Given the description of an element on the screen output the (x, y) to click on. 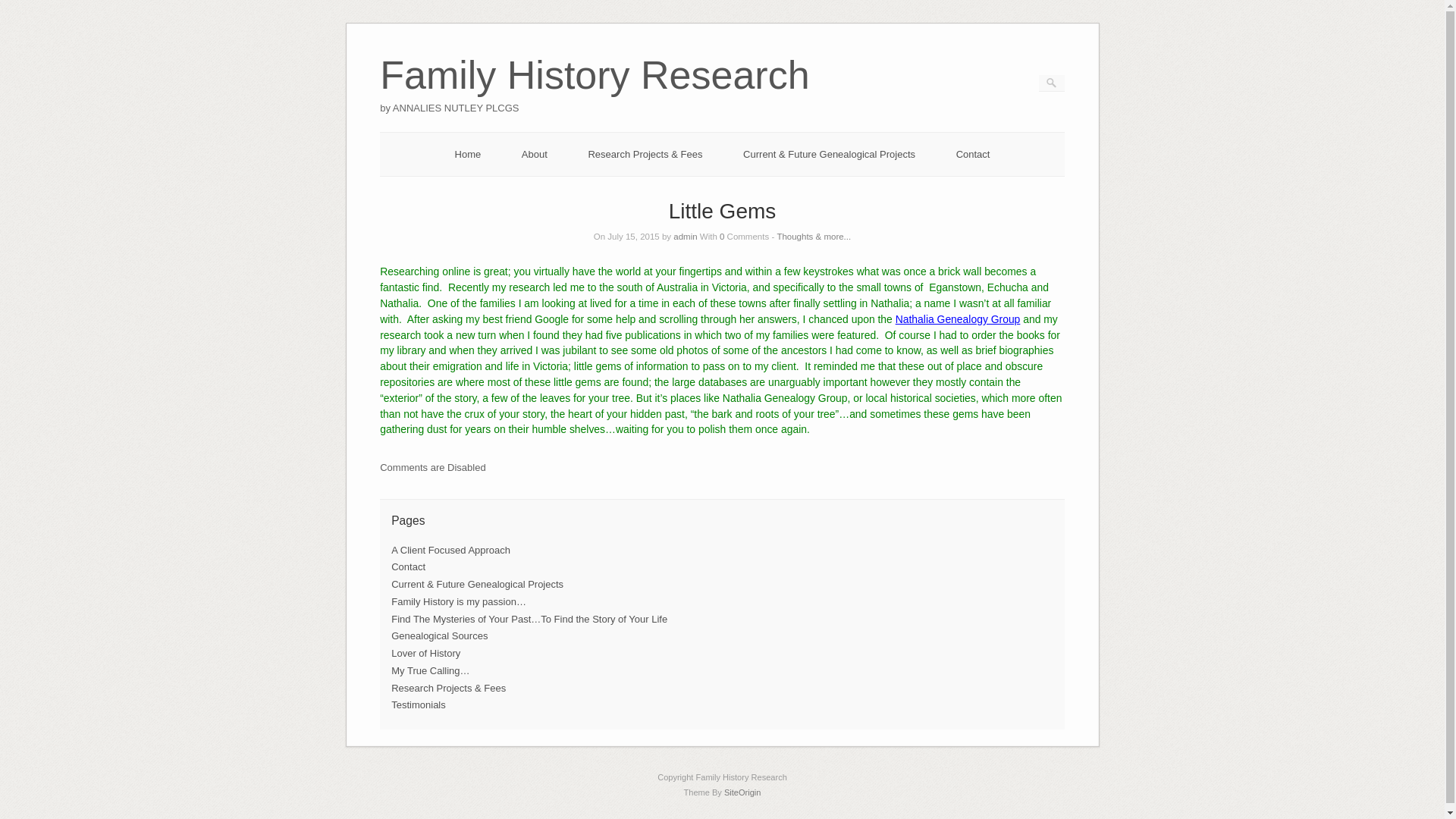
Current & Future Genealogical Projects Element type: text (477, 583)
SiteOrigin Element type: text (742, 792)
A Client Focused Approach Element type: text (450, 549)
Current & Future Genealogical Projects Element type: text (829, 154)
Research Projects & Fees Element type: text (644, 154)
Nathalia Genealogy Group Element type: text (957, 319)
Home Element type: text (468, 154)
About Element type: text (534, 154)
Testimonials Element type: text (418, 704)
Thoughts & more... Element type: text (813, 236)
Family History Research
by ANNALIES NUTLEY PLCGS Element type: text (594, 95)
Search Element type: text (21, 7)
Research Projects & Fees Element type: text (448, 687)
Skip to content Element type: text (379, 40)
Contact Element type: text (408, 566)
Contact Element type: text (973, 154)
Genealogical Sources Element type: text (439, 635)
Lover of History Element type: text (425, 652)
admin Element type: text (684, 236)
